Given the description of an element on the screen output the (x, y) to click on. 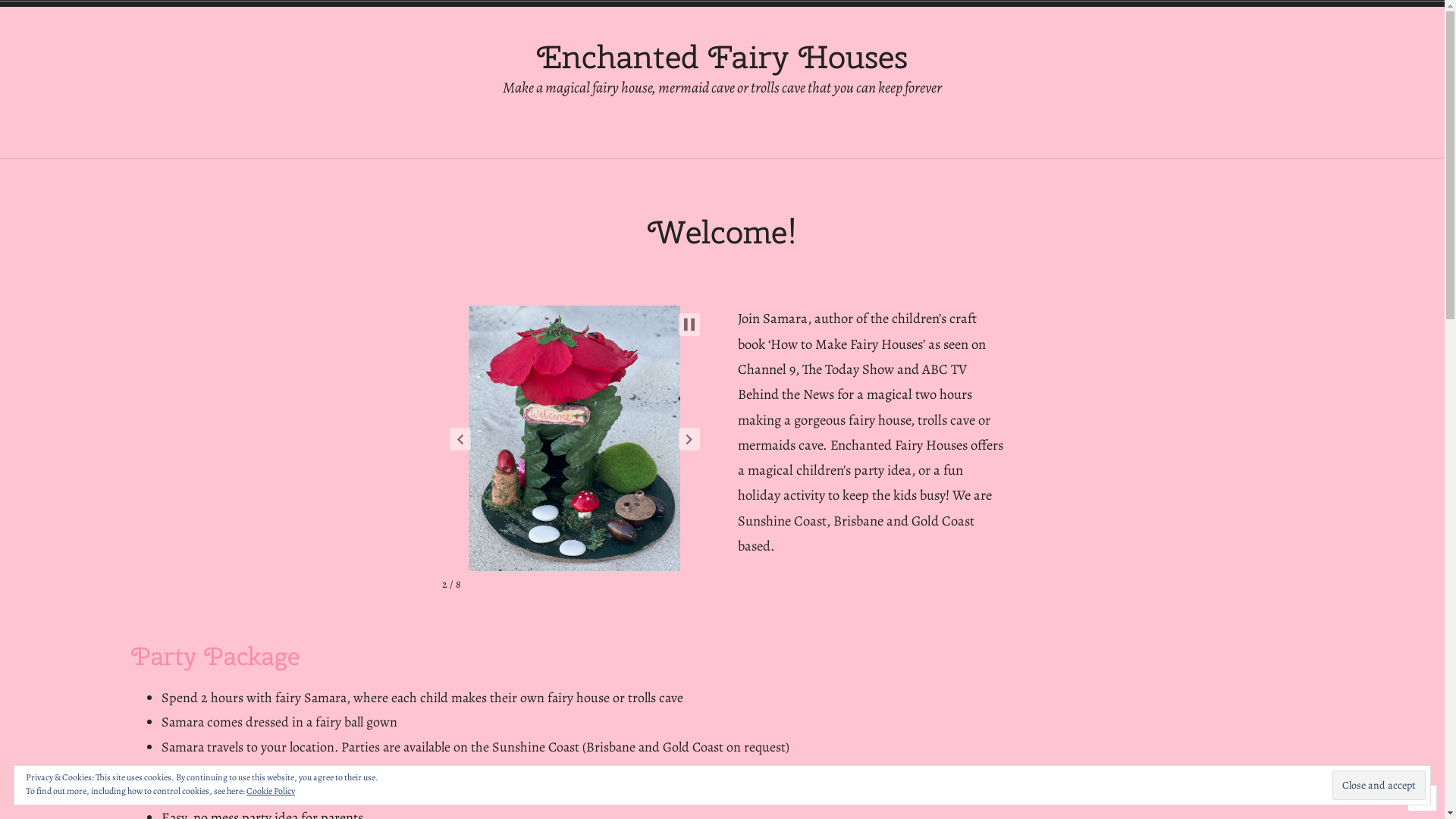
Enchanted Fairy Houses Element type: text (721, 56)
Cookie Policy Element type: text (270, 790)
Close and accept Element type: text (1378, 785)
